Given the description of an element on the screen output the (x, y) to click on. 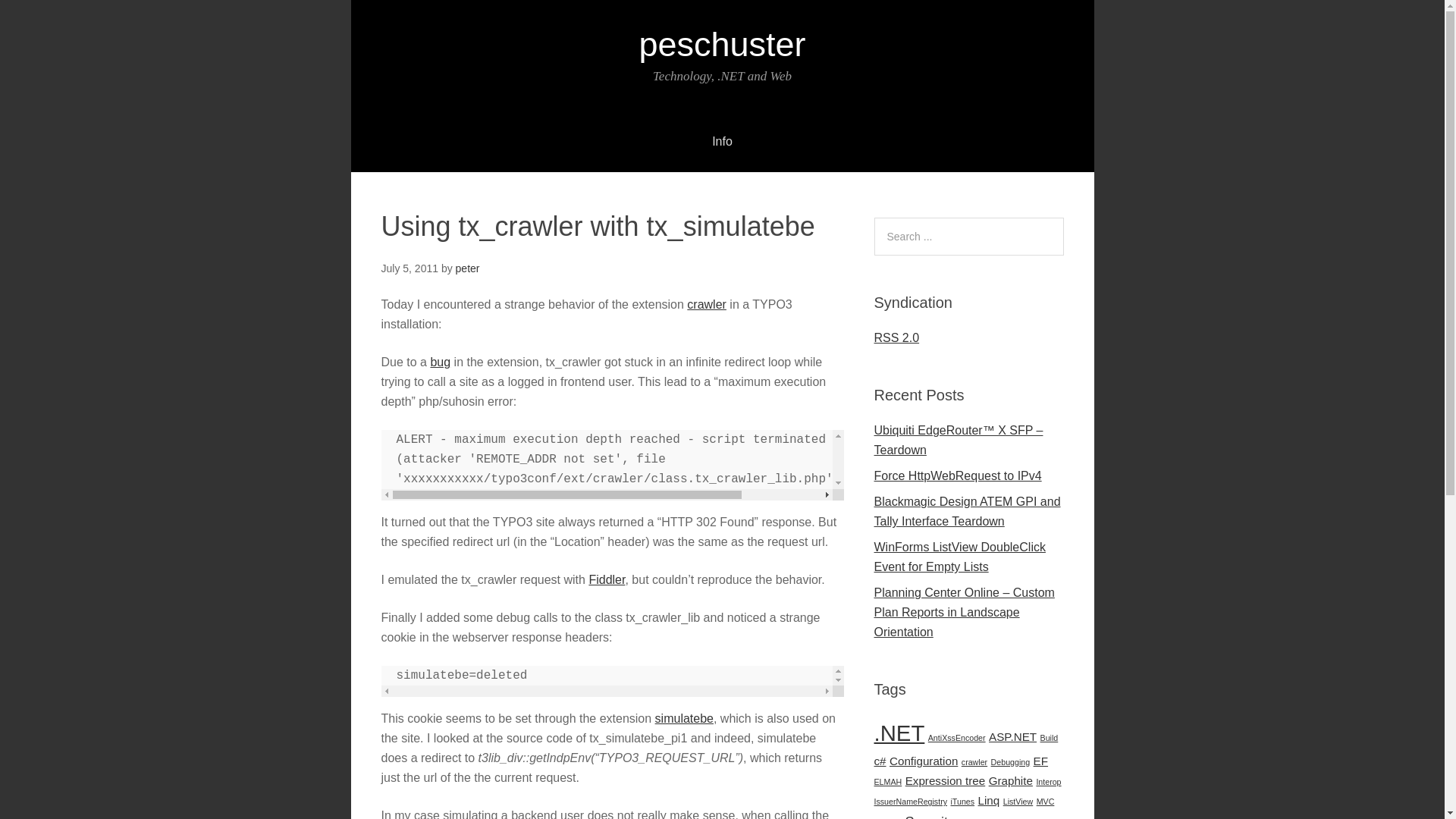
Graphite (1010, 780)
crawler (706, 304)
ASP.NET (1012, 736)
Build (1049, 737)
Force HttpWebRequest to IPv4 (957, 475)
simulatebe (684, 717)
ELMAH (887, 781)
peschuster (722, 44)
Tuesday, July 5, 2011, 8:01 pm (409, 268)
Expression tree (945, 780)
